Given the description of an element on the screen output the (x, y) to click on. 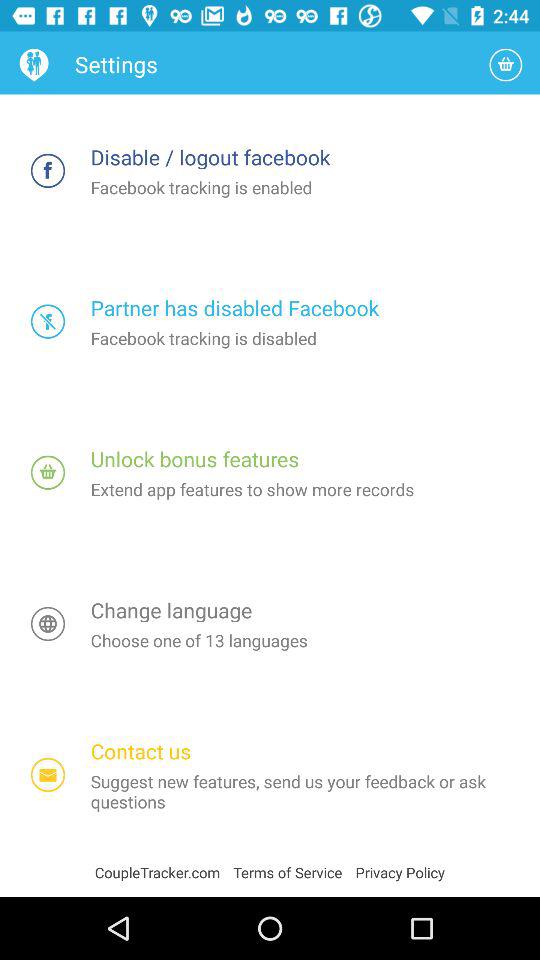
switch to change language (47, 623)
